Given the description of an element on the screen output the (x, y) to click on. 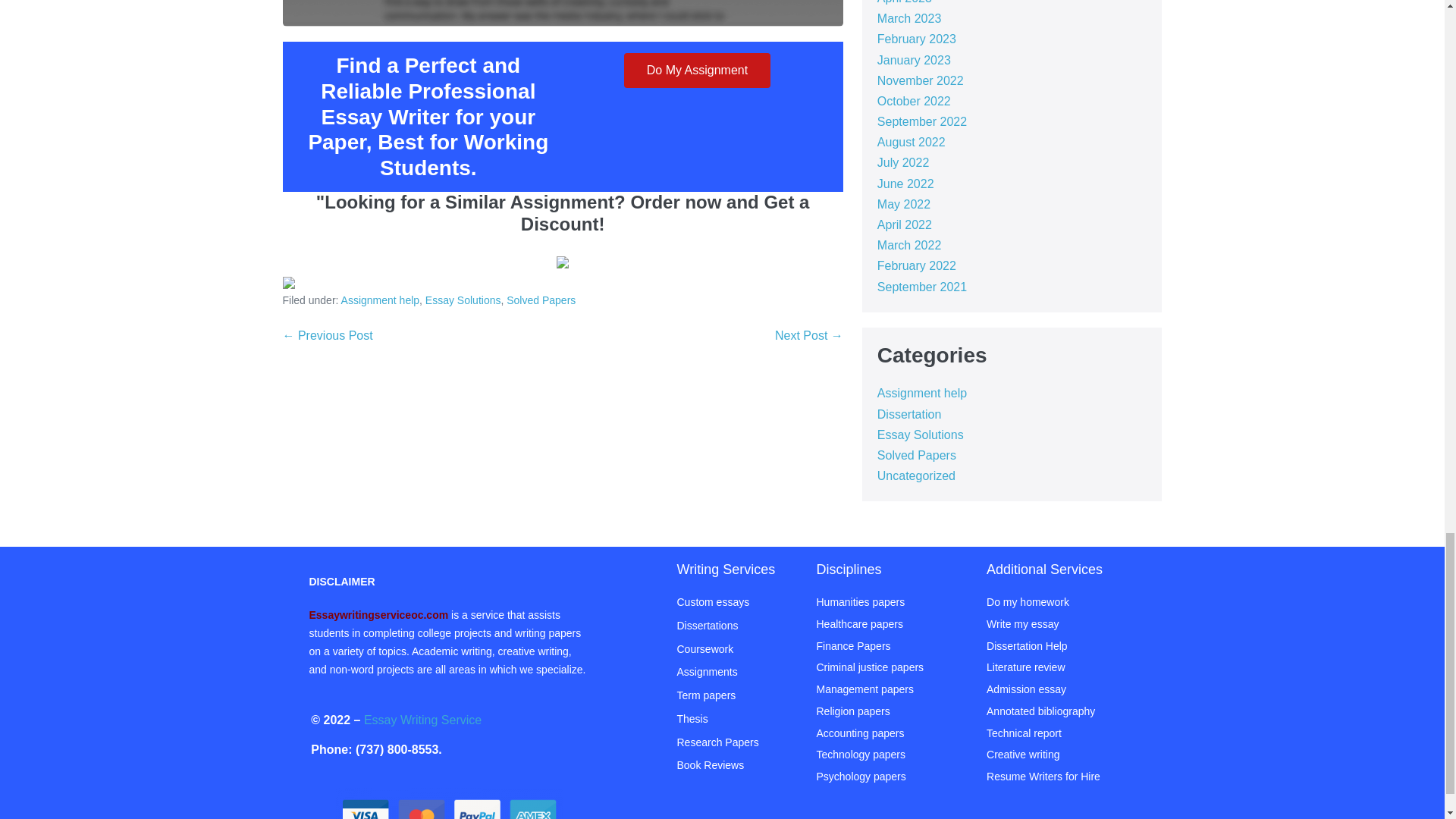
Solved Papers (540, 300)
April 2023 (904, 2)
Essay Solutions (462, 300)
Do My Assignment (697, 70)
Assignment help (380, 300)
March 2023 (909, 18)
